Given the description of an element on the screen output the (x, y) to click on. 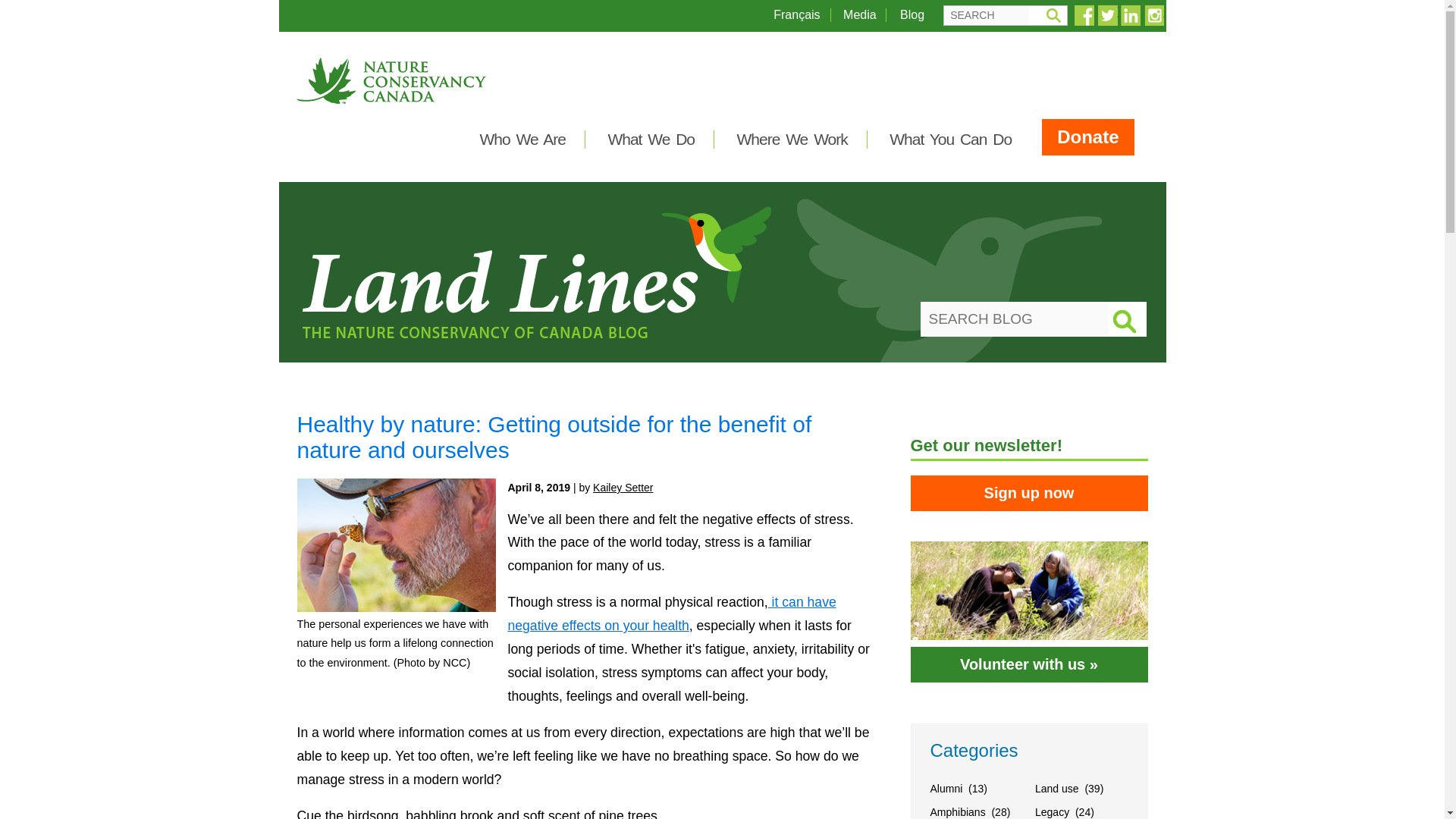
Go (1053, 15)
Go (1053, 15)
Blog (911, 14)
Media (859, 14)
Twitter (1107, 14)
Facebook (1084, 14)
Where We Work (791, 139)
Instagram (1152, 14)
LinkedIn (1130, 14)
What We Do (650, 139)
Who We Are (522, 139)
